Given the description of an element on the screen output the (x, y) to click on. 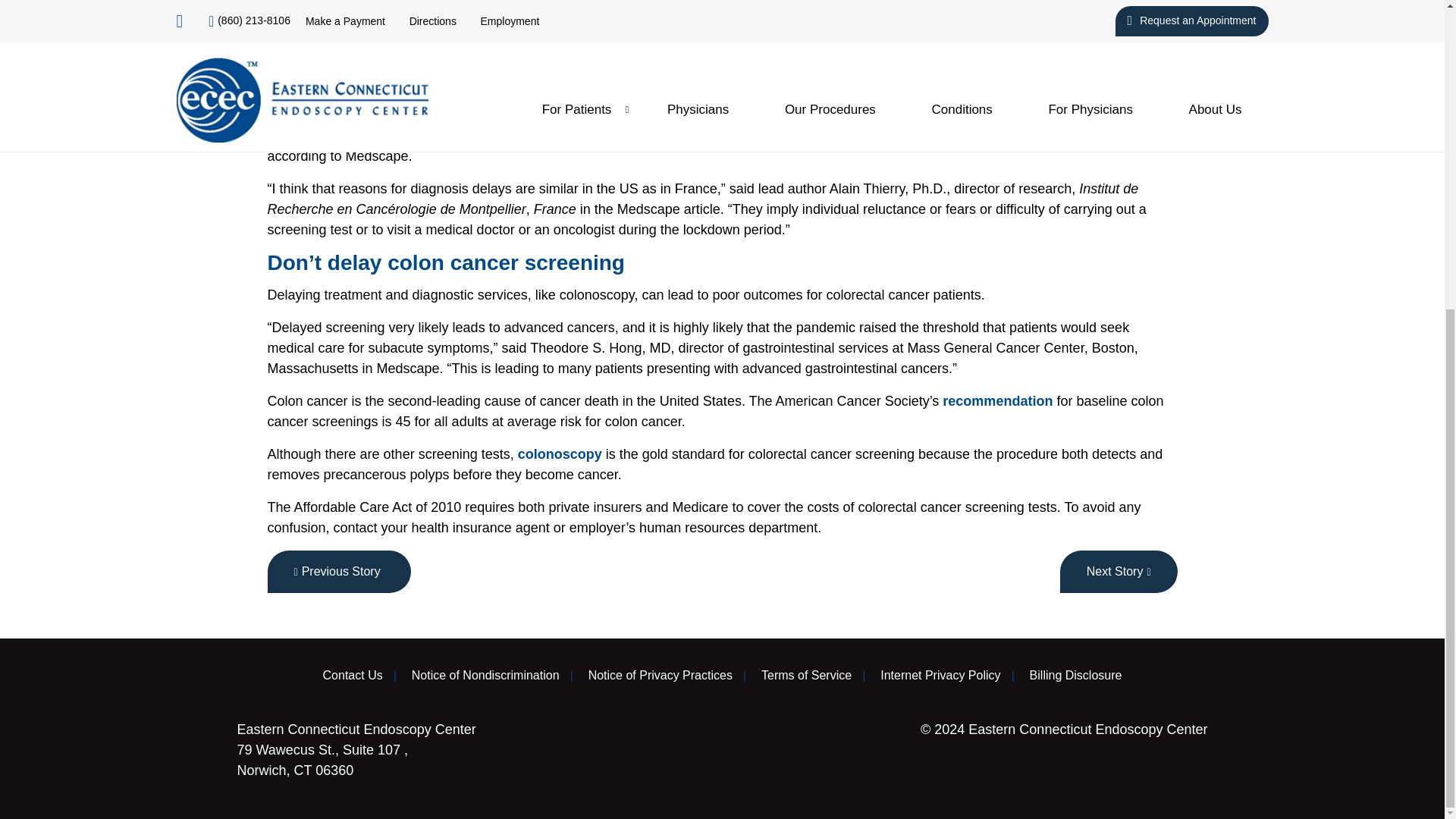
Next Story (1118, 571)
Terms of Service (806, 675)
Notice of Nondiscrimination (485, 675)
Contact Us (352, 675)
Previous Story (338, 571)
colonoscopy (560, 453)
Billing Disclosure (1075, 675)
recommendation (997, 400)
Notice of Privacy Practices (660, 675)
